Given the description of an element on the screen output the (x, y) to click on. 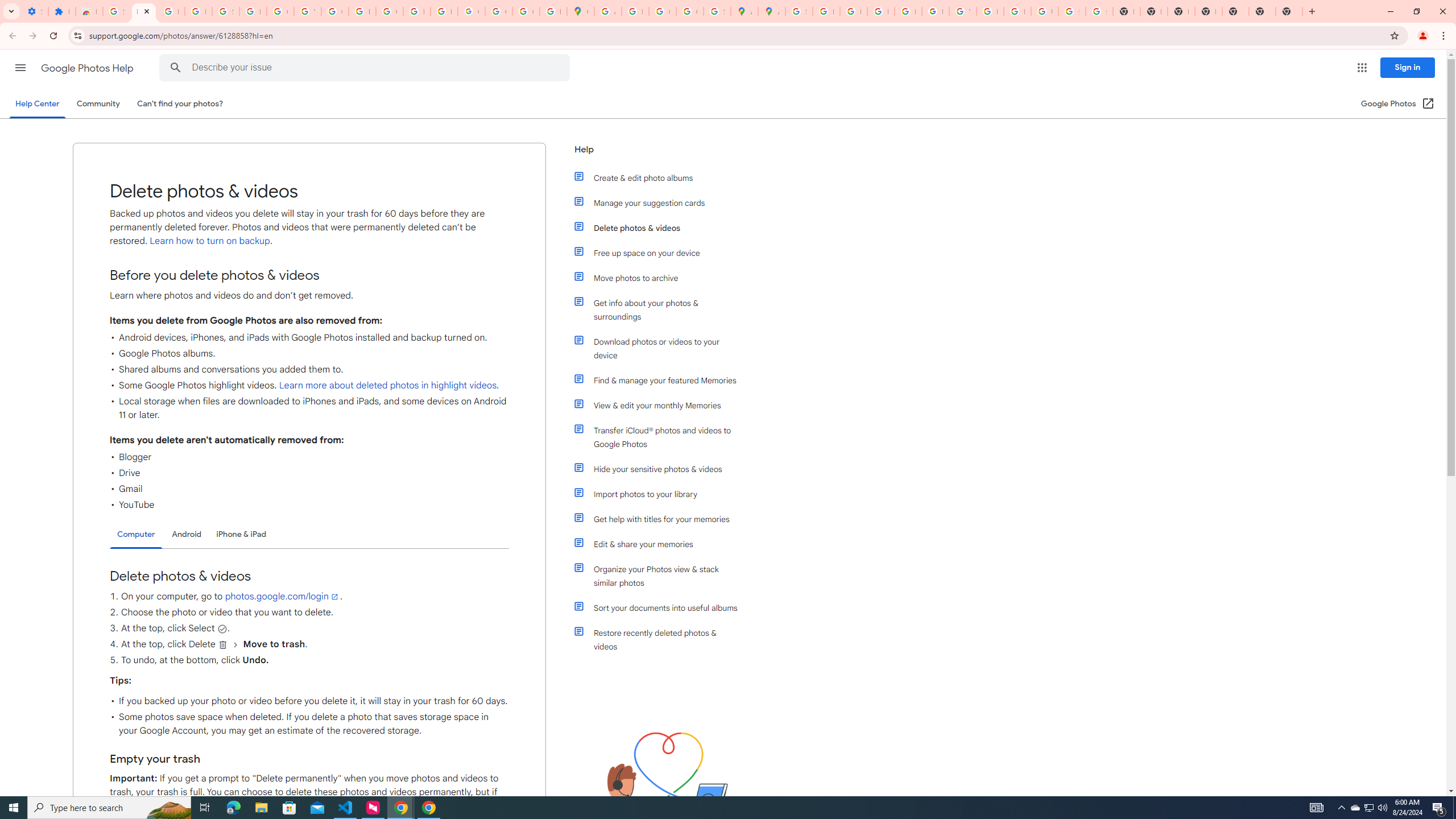
Import photos to your library (661, 493)
Privacy Help Center - Policies Help (880, 11)
Community (97, 103)
Settings - On startup (34, 11)
